Given the description of an element on the screen output the (x, y) to click on. 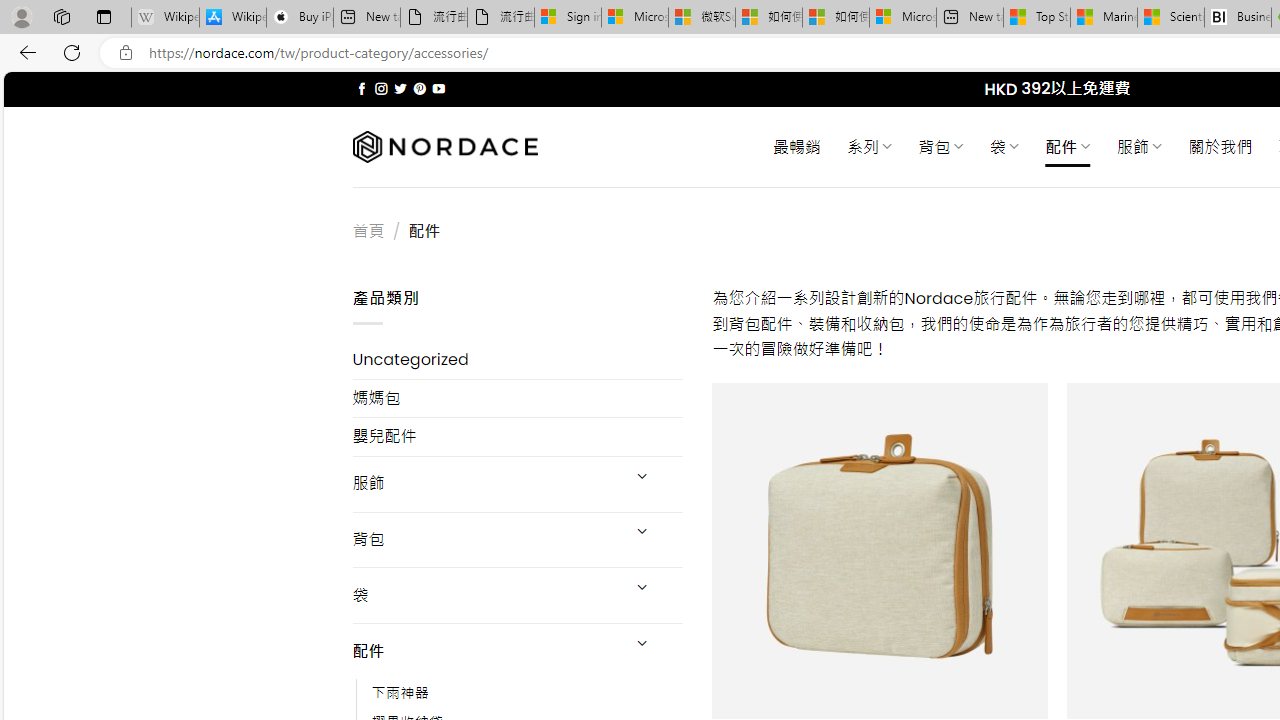
Uncategorized (517, 359)
Follow on YouTube (438, 88)
